Given the description of an element on the screen output the (x, y) to click on. 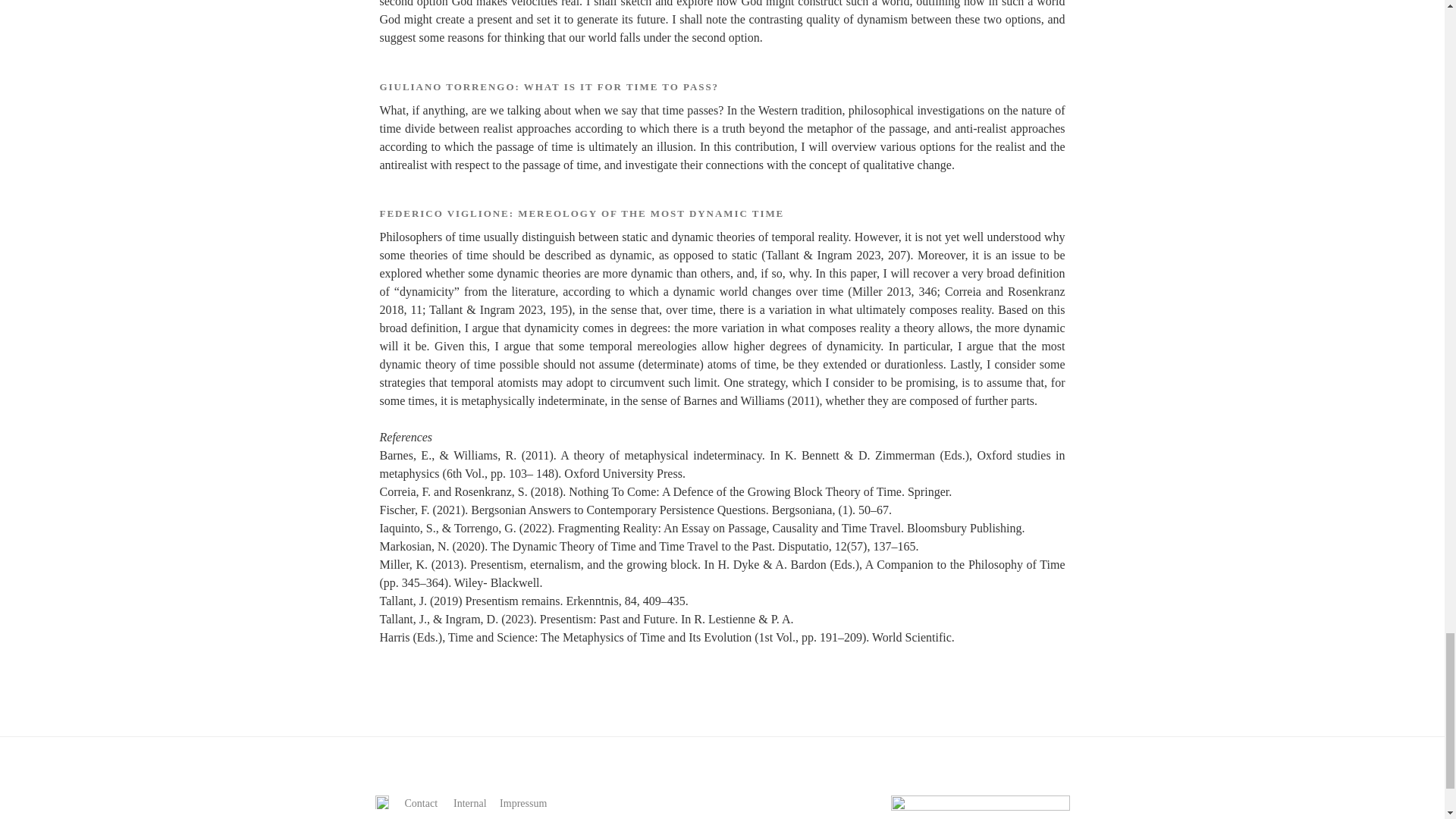
Contact (421, 803)
Internal (469, 803)
Impressum (523, 803)
